Given the description of an element on the screen output the (x, y) to click on. 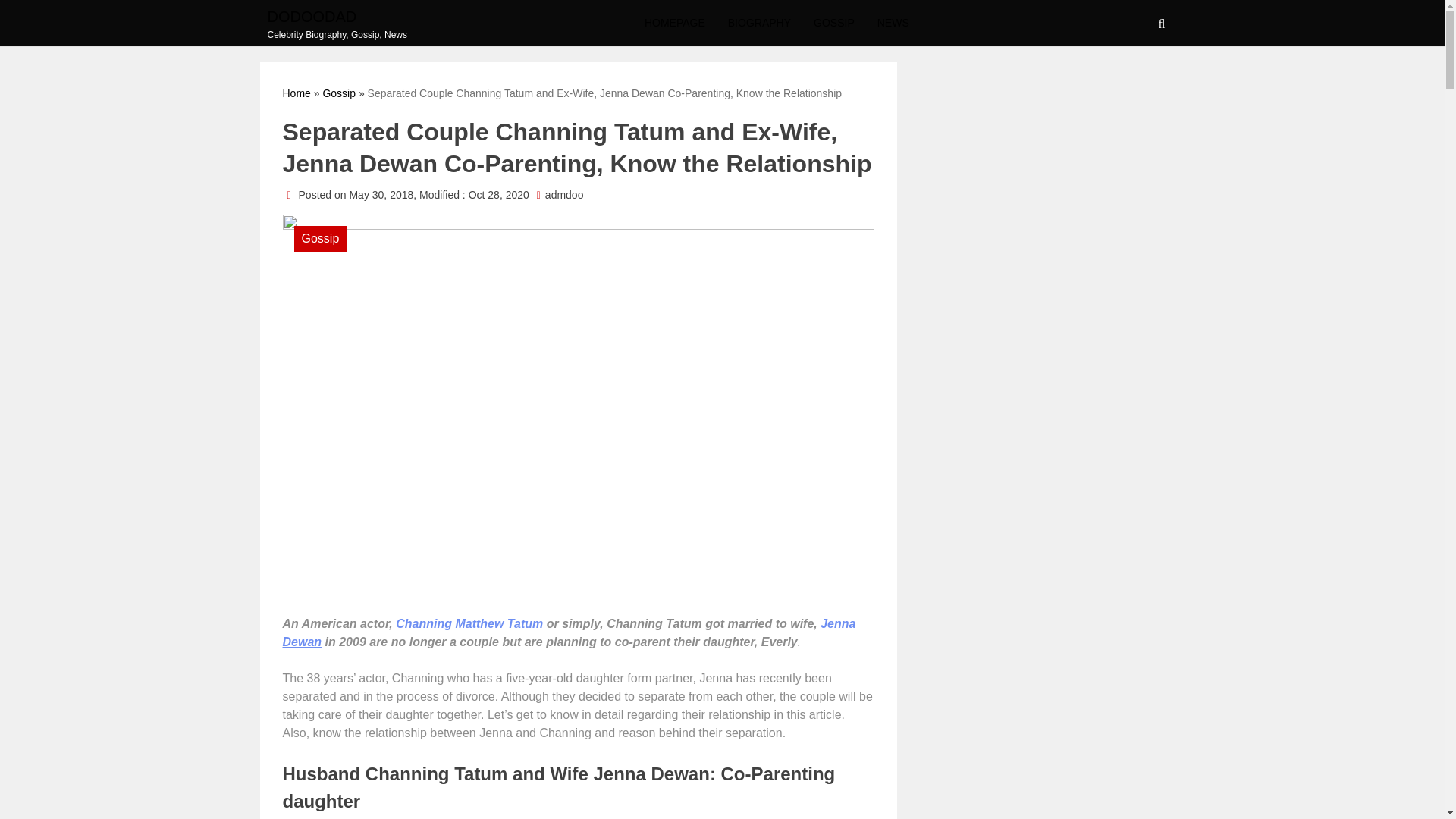
NEWS (893, 22)
Jenna Dewan (569, 632)
BIOGRAPHY (759, 22)
Home (296, 92)
Channing Matthew Tatum (469, 623)
HOMEPAGE (674, 22)
Jenna Dewan (569, 632)
DODOODAD (336, 15)
GOSSIP (834, 22)
Gossip (338, 92)
Channing Matthew Tatum (469, 623)
